Given the description of an element on the screen output the (x, y) to click on. 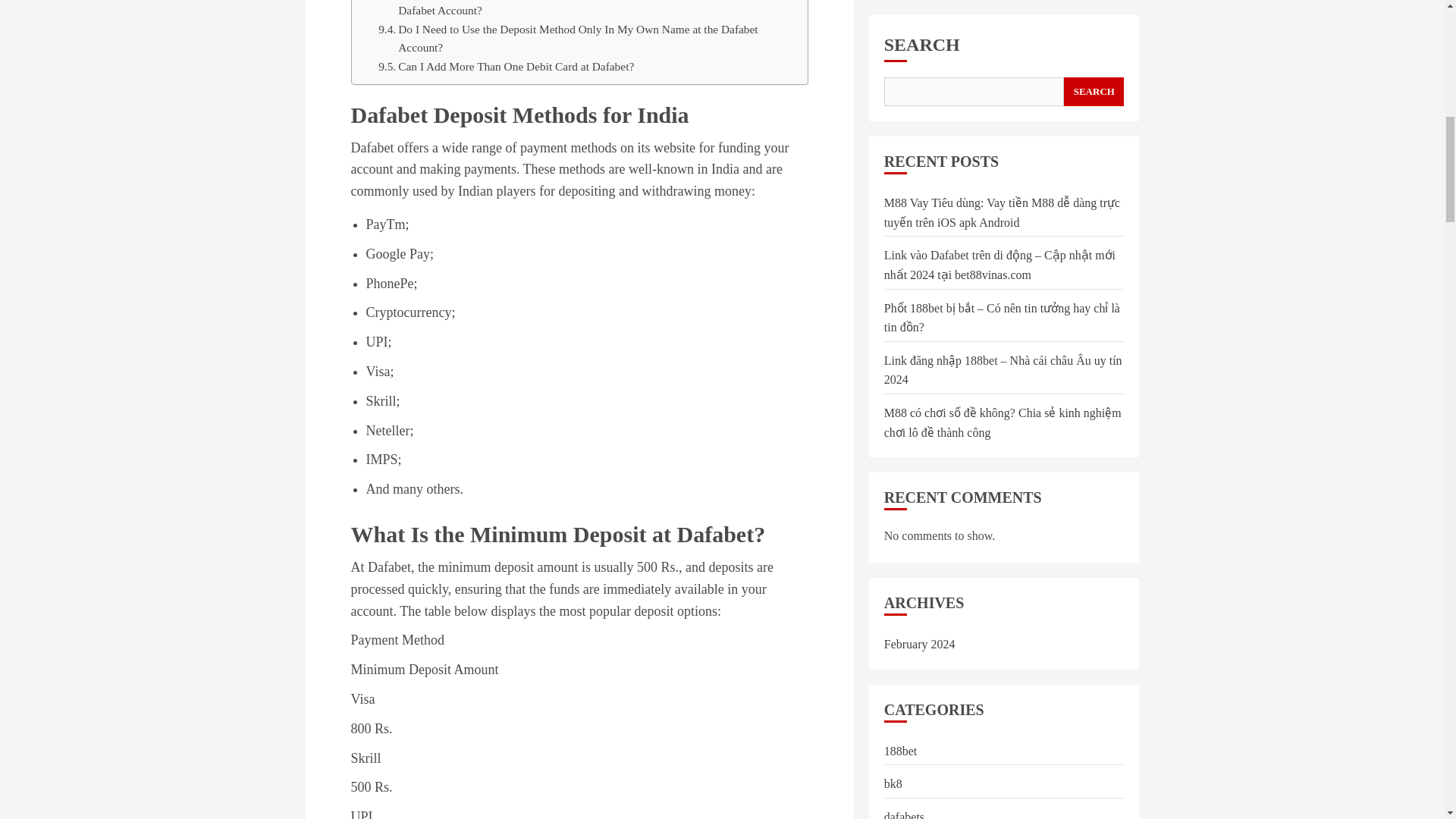
Can I Add More Than One Debit Card at Dafabet? (505, 66)
